Given the description of an element on the screen output the (x, y) to click on. 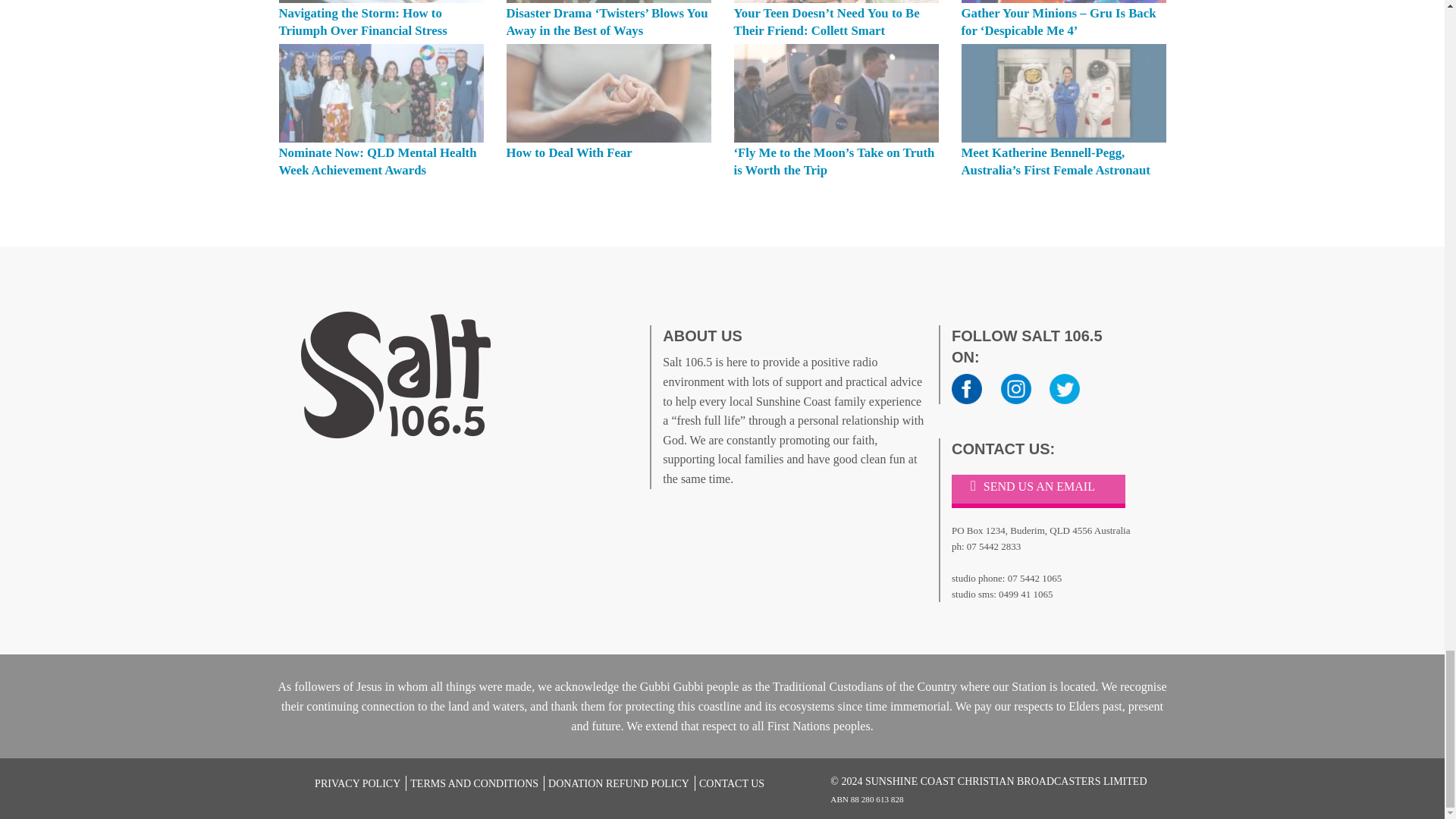
Navigating the Storm: How to Triumph Over Financial Stress (381, 1)
Navigating the Storm: How to Triumph Over Financial Stress (362, 21)
